Given the description of an element on the screen output the (x, y) to click on. 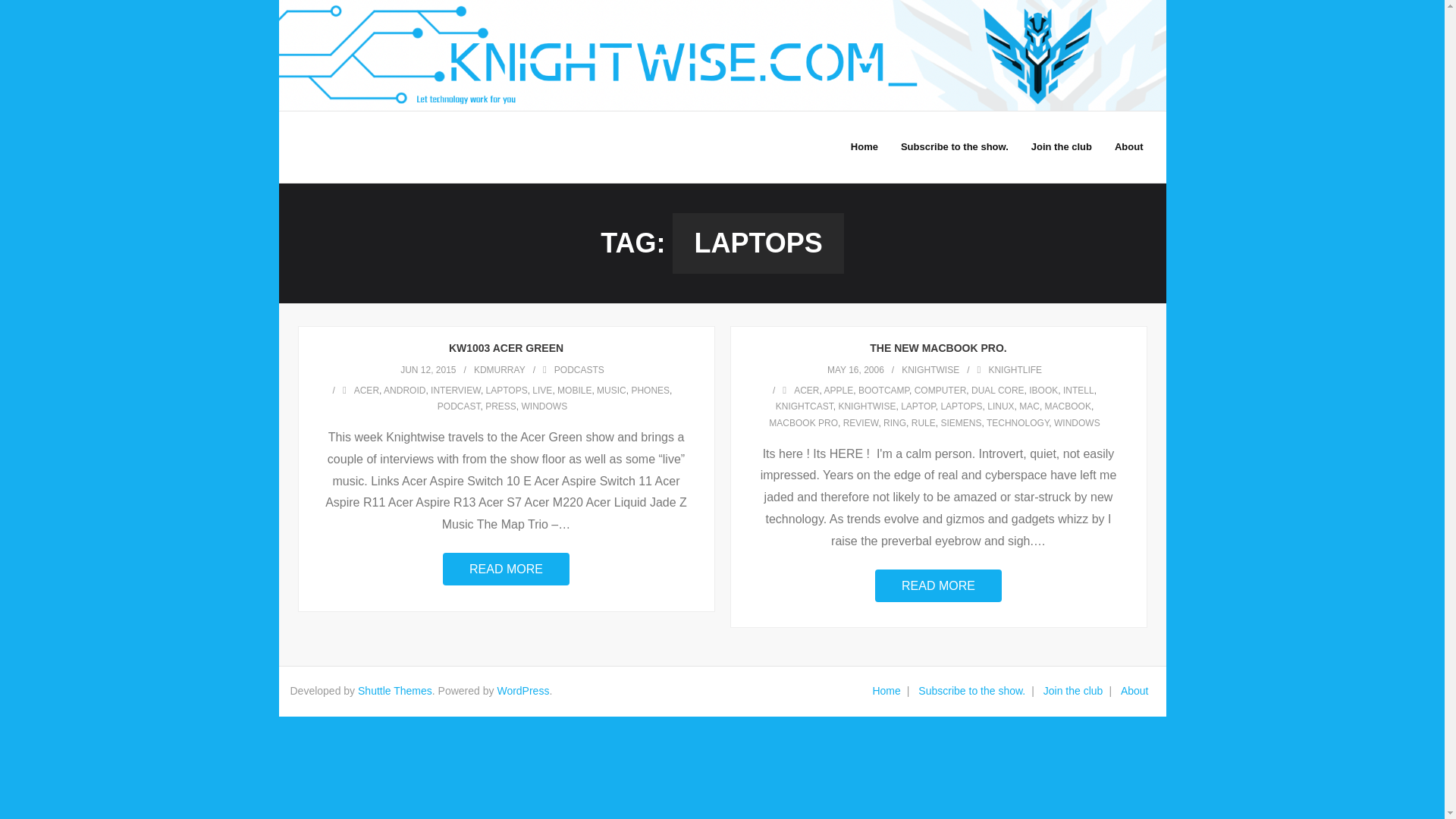
IBOOK (1043, 389)
APPLE (838, 389)
KW1003 ACER GREEN (505, 347)
ANDROID (404, 389)
COMPUTER (940, 389)
INTERVIEW (455, 389)
PRESS (500, 406)
INTELL (1078, 389)
KNIGHTWISE (930, 369)
KW1003 Acer Green (427, 369)
